Given the description of an element on the screen output the (x, y) to click on. 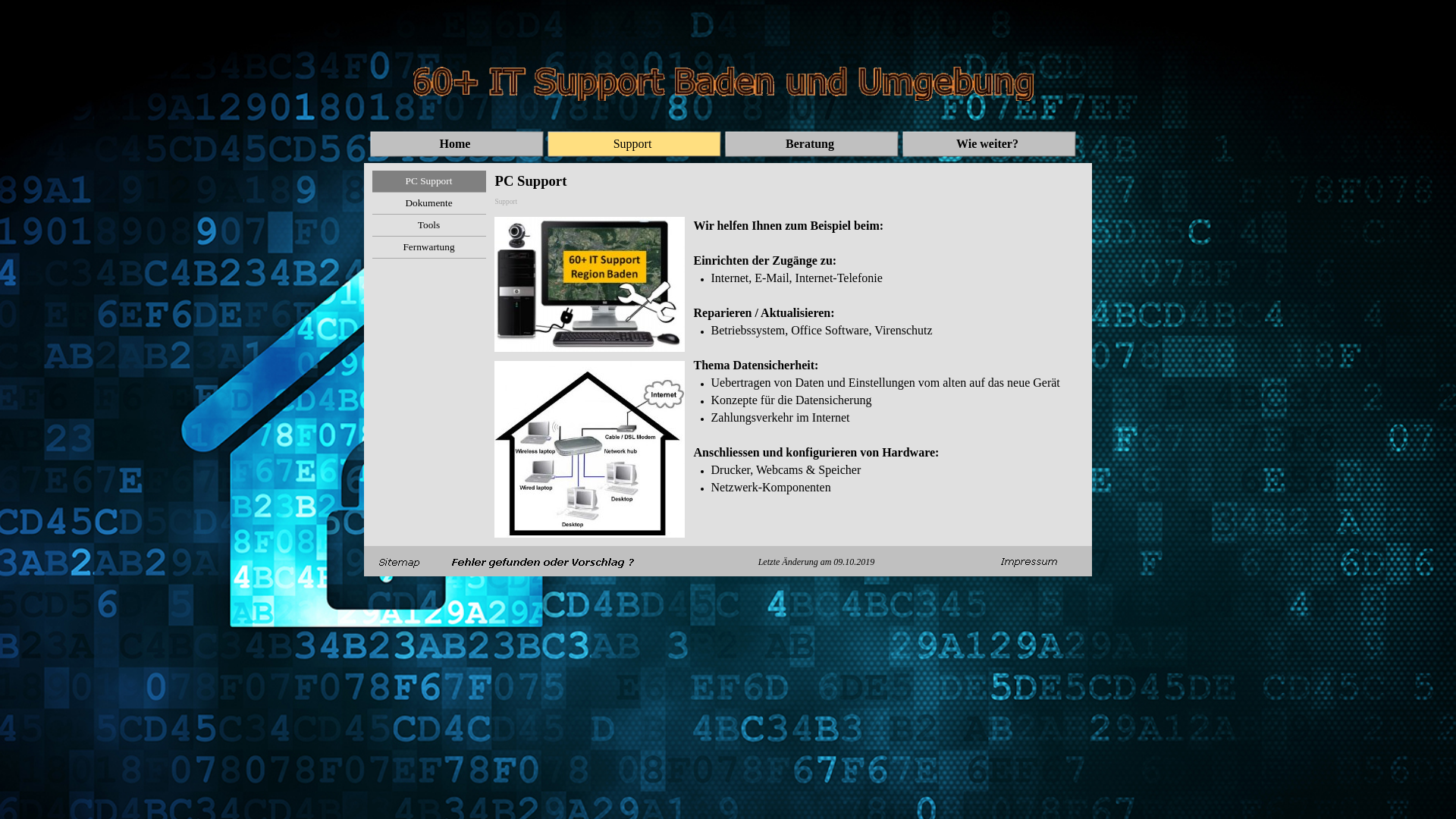
Dokumente Element type: text (428, 202)
Home Element type: text (457, 143)
Tools Element type: text (428, 224)
Fernwartung Element type: text (428, 246)
PC Support Element type: text (428, 180)
